Given the description of an element on the screen output the (x, y) to click on. 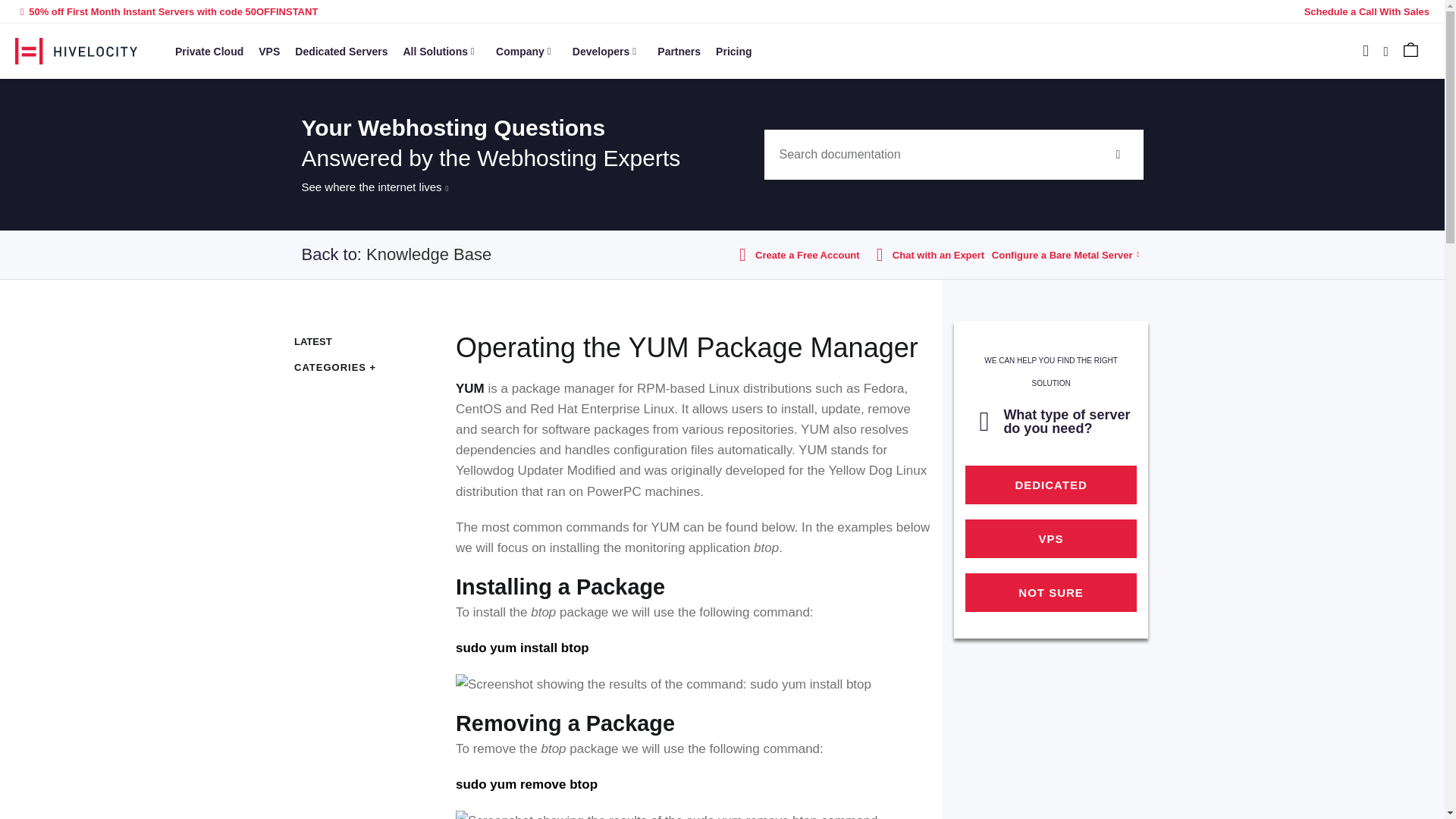
Pricing (732, 50)
Search (928, 154)
Partners (678, 50)
Cart (1410, 54)
Private Cloud (208, 50)
VPS (268, 50)
Dedicated Servers (340, 50)
Schedule a Call With Sales (1366, 11)
